Given the description of an element on the screen output the (x, y) to click on. 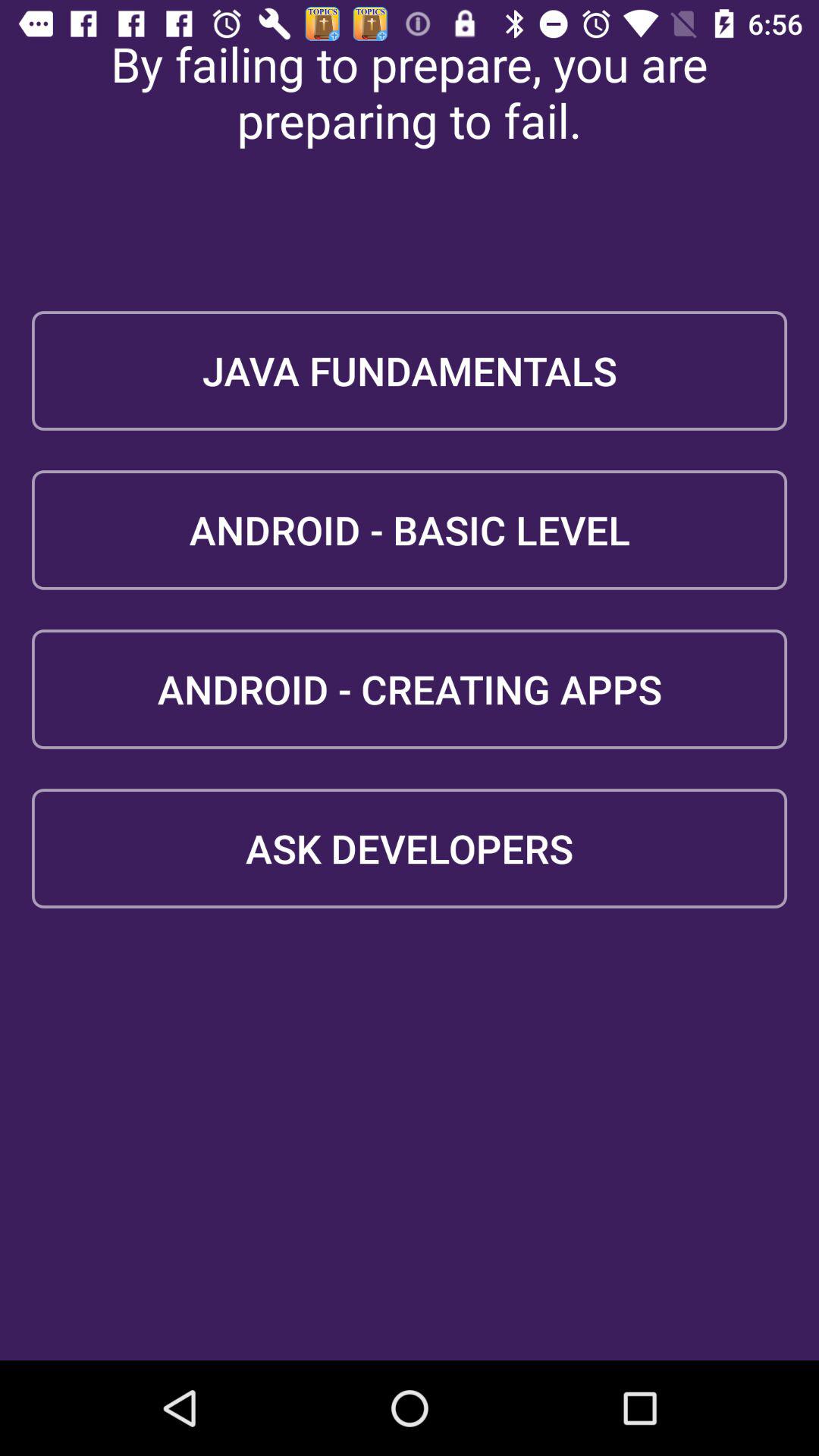
turn on the item above the android - basic level (409, 370)
